Given the description of an element on the screen output the (x, y) to click on. 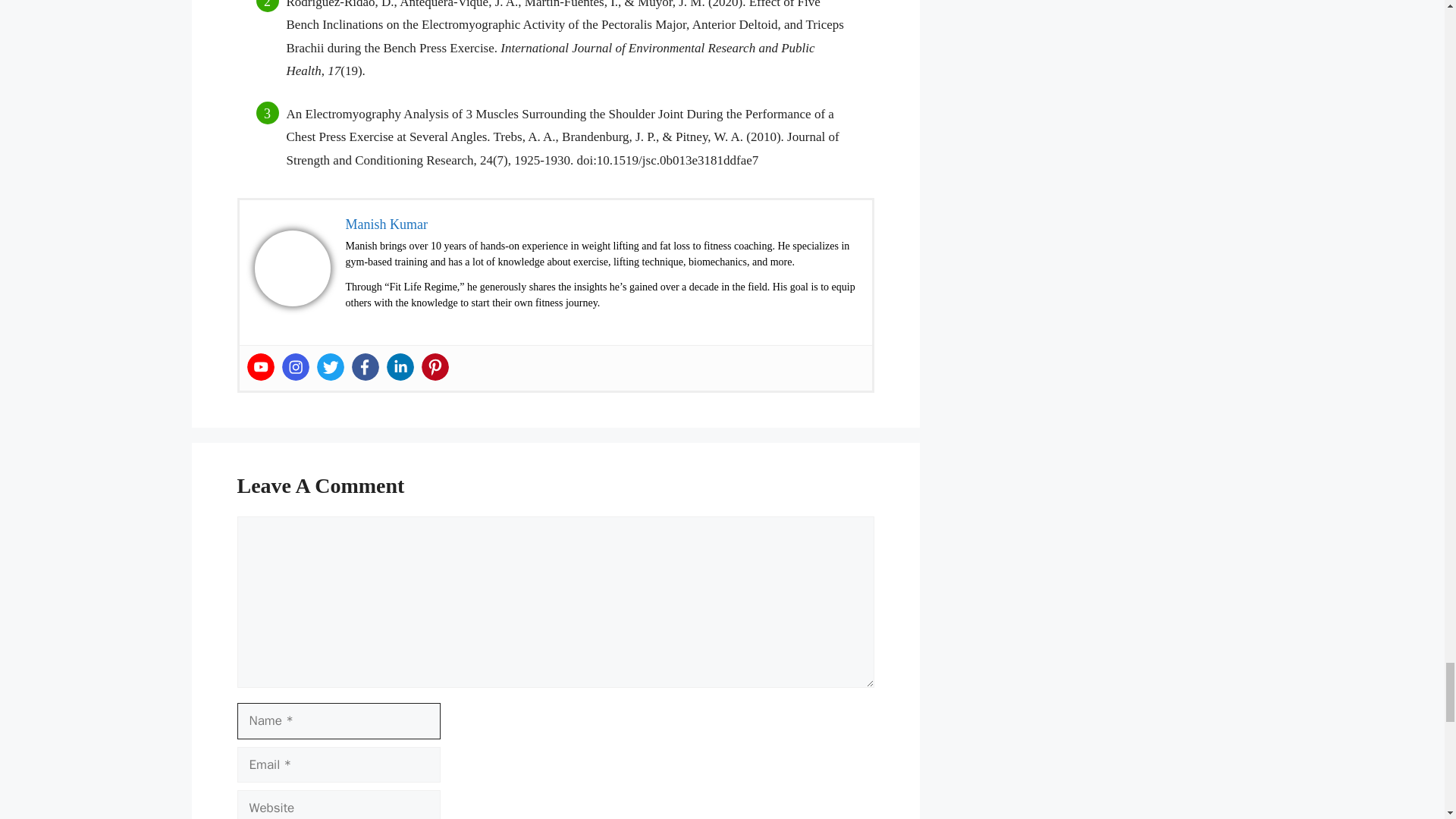
Pinterest (435, 366)
Linkedin (400, 366)
Youtube (261, 366)
Twitter (330, 366)
Facebook (365, 366)
Instagram (295, 366)
